Given the description of an element on the screen output the (x, y) to click on. 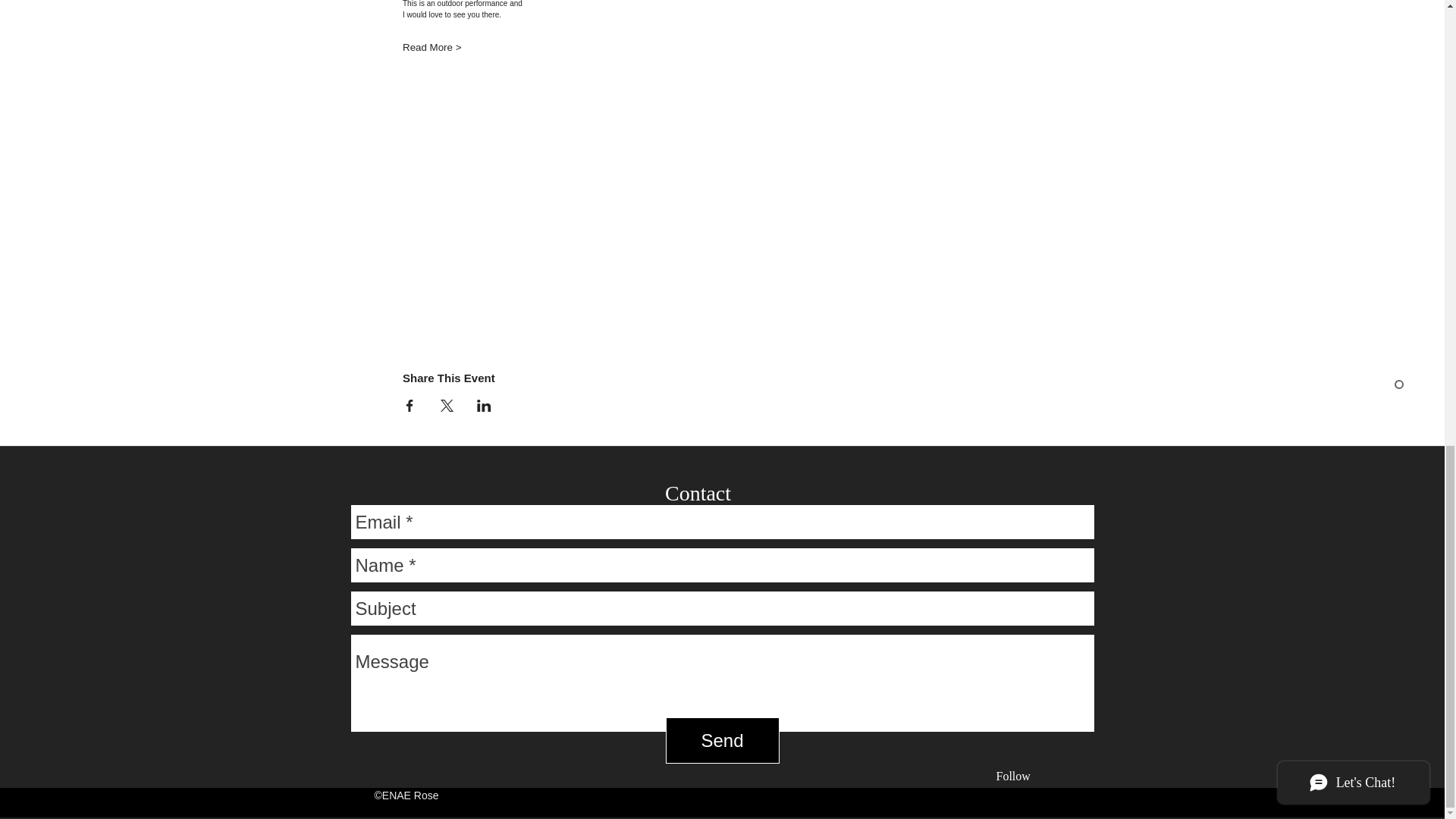
Send (721, 740)
